Given the description of an element on the screen output the (x, y) to click on. 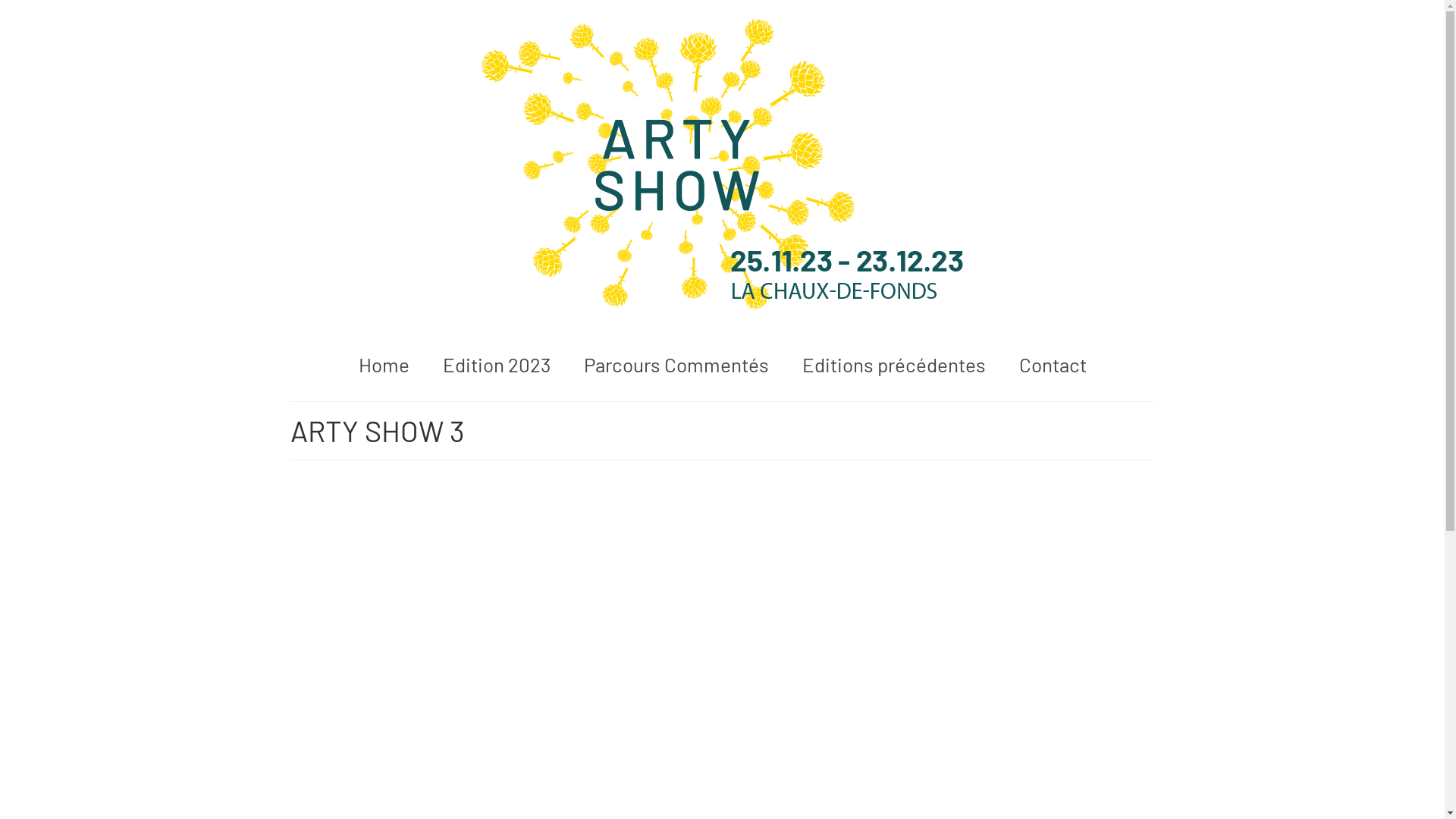
Home Element type: text (382, 364)
Contact Element type: text (1052, 364)
Edition 2023 Element type: text (496, 364)
